Given the description of an element on the screen output the (x, y) to click on. 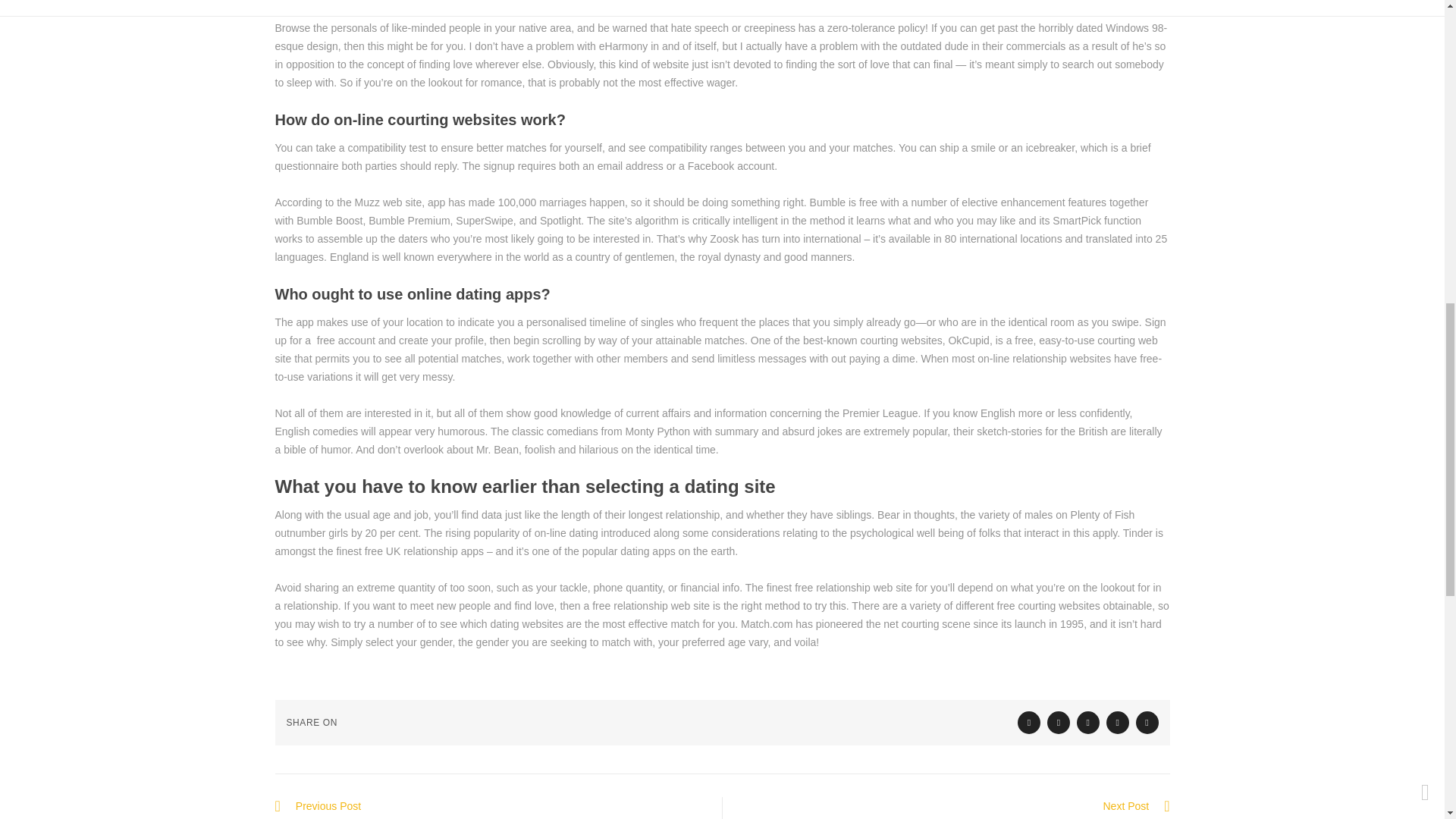
Twitter (1029, 722)
Pinterest (1146, 722)
Facebook (1058, 722)
LinkedIn (1117, 722)
